Given the description of an element on the screen output the (x, y) to click on. 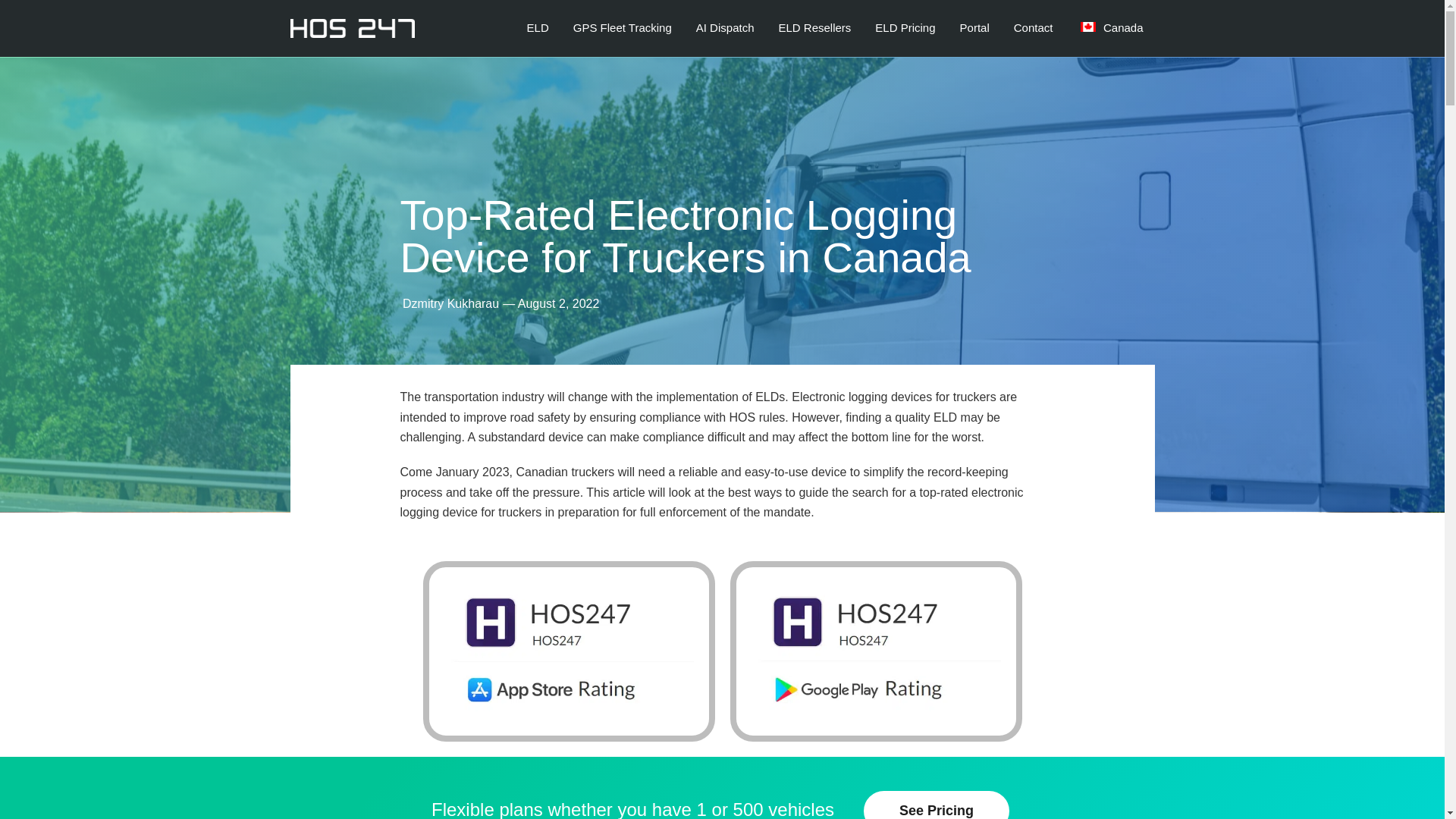
ELD Pricing (904, 27)
AI Dispatch (724, 27)
Contact (1032, 27)
Canada (1109, 27)
Canada (1109, 27)
GPS Fleet Tracking (622, 27)
See Pricing (936, 805)
ELD Resellers (813, 27)
Dzmitry Kukharau (450, 303)
